Given the description of an element on the screen output the (x, y) to click on. 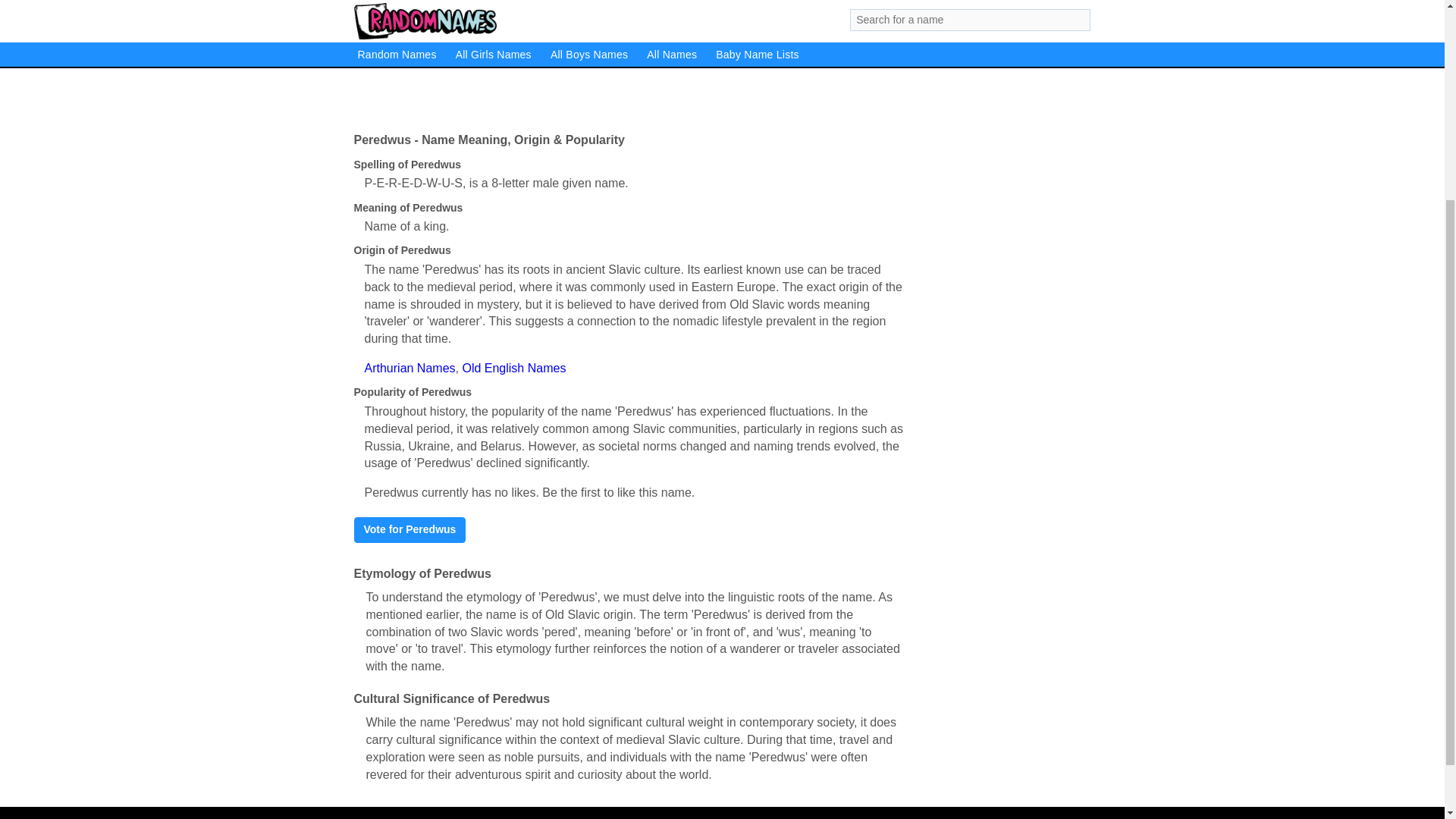
Advertisement (629, 58)
Vote for Peredwus (409, 529)
Arthurian Names (409, 367)
Old English Names (513, 367)
Arthurian Names (409, 367)
Old English Names (513, 367)
